Given the description of an element on the screen output the (x, y) to click on. 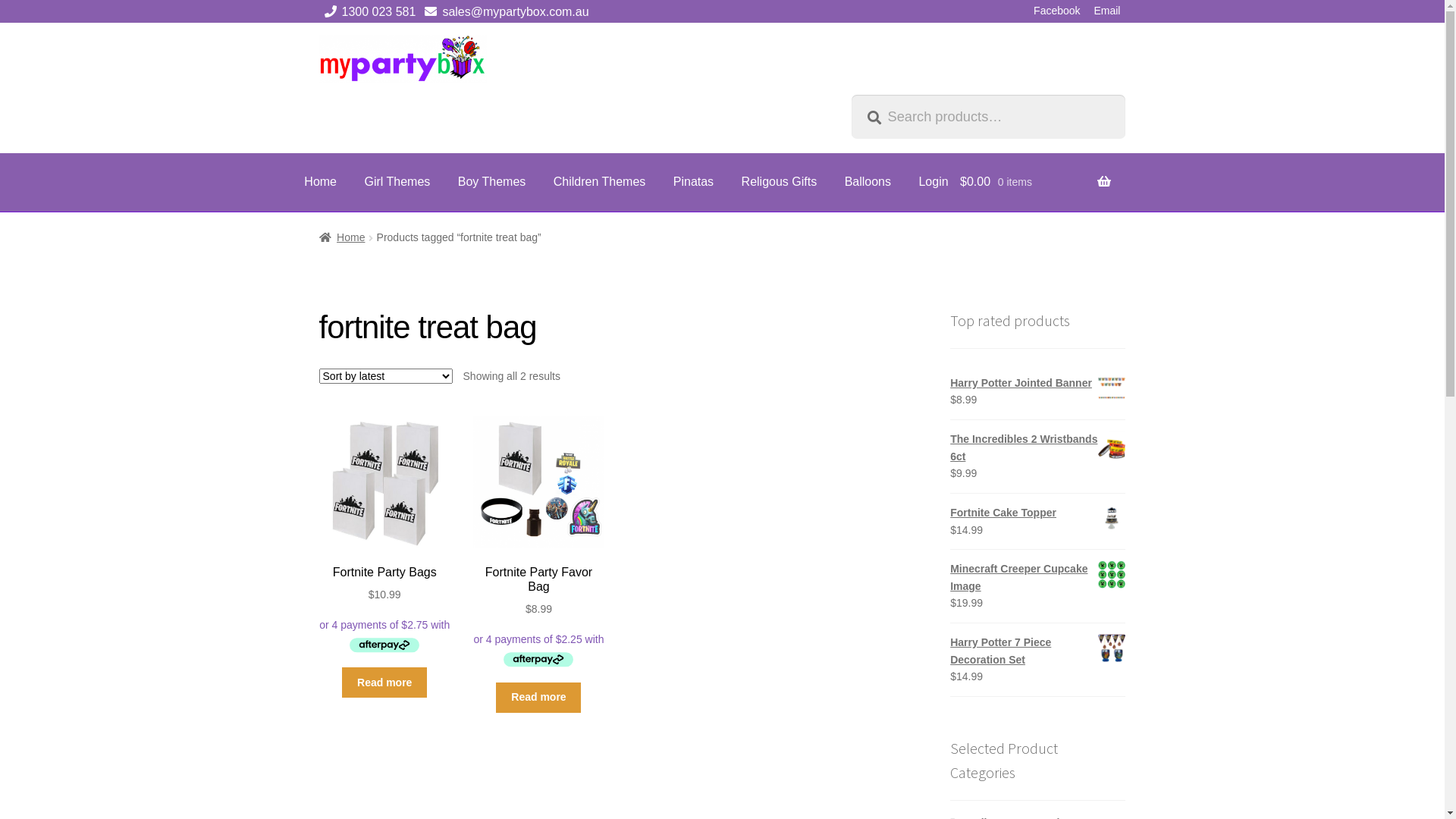
Children Themes Element type: text (599, 182)
Read more Element type: text (537, 697)
Fortnite Party Favor Bag
$8.99
or 4 payments of $2.25 with Element type: text (538, 543)
Login Element type: text (933, 182)
Email Element type: text (1106, 10)
The Incredibles 2 Wristbands 6ct Element type: text (1037, 447)
Minecraft Creeper Cupcake Image Element type: text (1037, 577)
1300 023 581 Element type: text (367, 11)
Harry Potter 7 Piece Decoration Set Element type: text (1037, 650)
Religous Gifts Element type: text (779, 182)
Boy Themes Element type: text (491, 182)
Fortnite Party Bags
$10.99
or 4 payments of $2.75 with Element type: text (384, 535)
Home Element type: text (319, 182)
sales@mypartybox.com.au Element type: text (503, 11)
Fortnite Cake Topper Element type: text (1037, 512)
Facebook Element type: text (1056, 10)
Read more Element type: text (384, 682)
Balloons Element type: text (867, 182)
$0.00 0 items Element type: text (1035, 191)
Home Element type: text (342, 237)
Search Element type: text (850, 94)
Girl Themes Element type: text (396, 182)
Skip to navigation Element type: text (318, 34)
Pinatas Element type: text (693, 182)
Harry Potter Jointed Banner Element type: text (1037, 383)
